Given the description of an element on the screen output the (x, y) to click on. 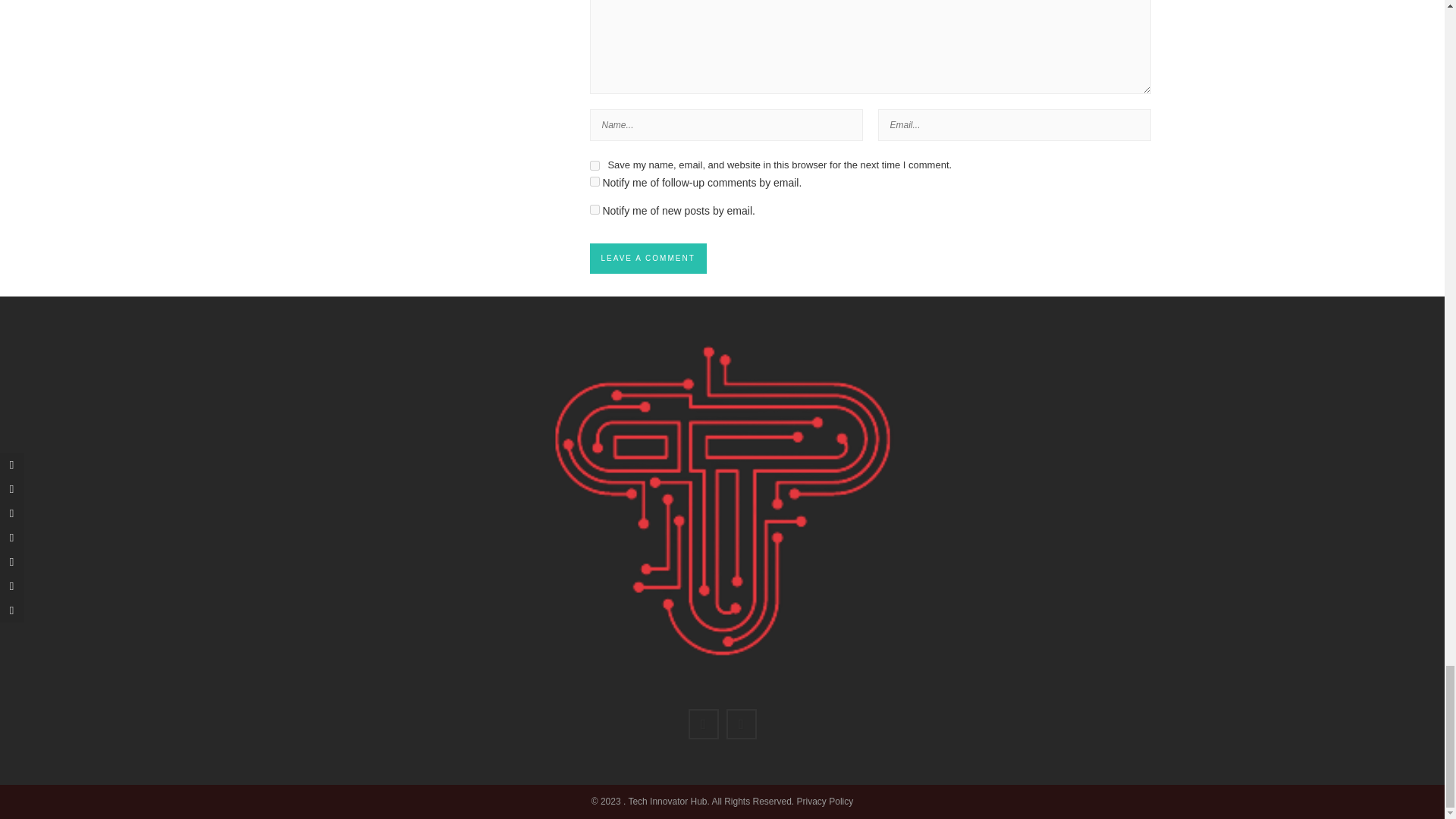
subscribe (594, 209)
subscribe (594, 181)
Leave a comment (647, 258)
yes (594, 165)
